Given the description of an element on the screen output the (x, y) to click on. 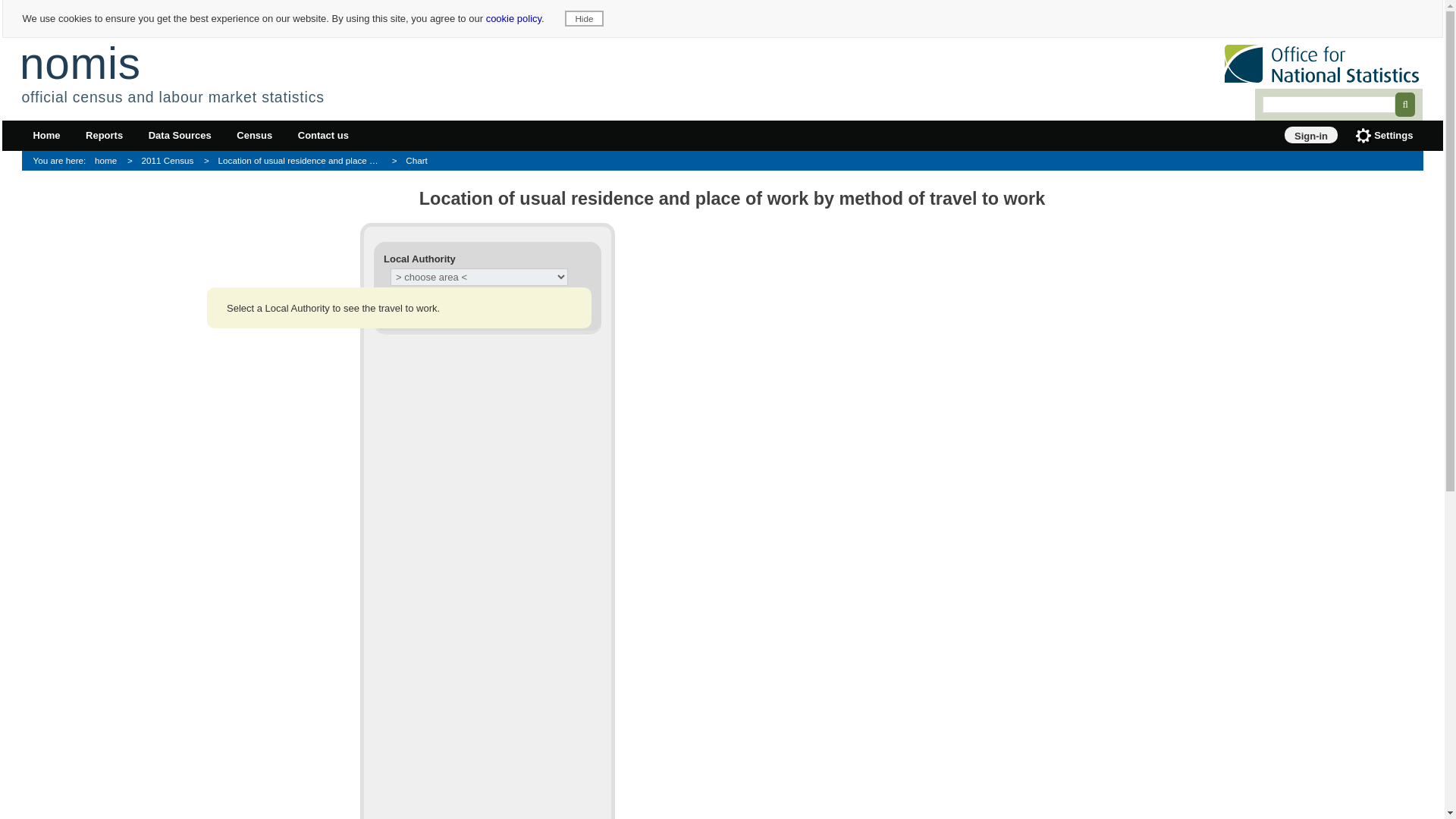
cookie policy (513, 18)
Hide (584, 18)
Home (46, 135)
My account overview (1311, 134)
Navigate to Chart (413, 160)
Read about how cookies are used on the Nomis web site (513, 18)
Data Sources (178, 135)
Hide this message about cookies (584, 18)
Census (254, 135)
Navigate to 2011 Census (165, 160)
Site settings (1383, 136)
Navigate to home (77, 160)
Reports (104, 135)
nomis (80, 62)
